Given the description of an element on the screen output the (x, y) to click on. 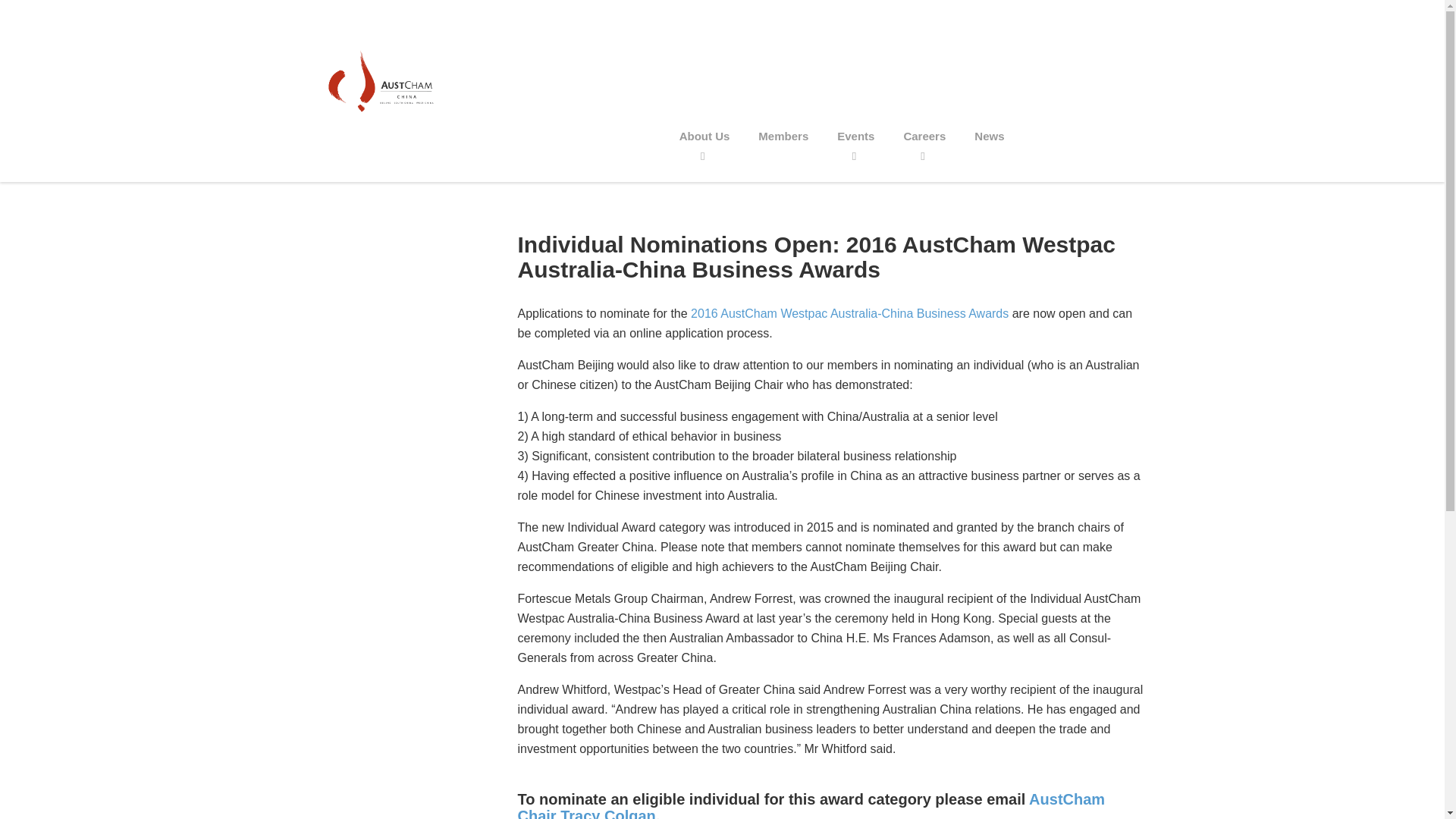
2016 AustCham Westpac Australia-China Business Awards (849, 313)
AustCham Chair Tracy Colgan (810, 805)
